Given the description of an element on the screen output the (x, y) to click on. 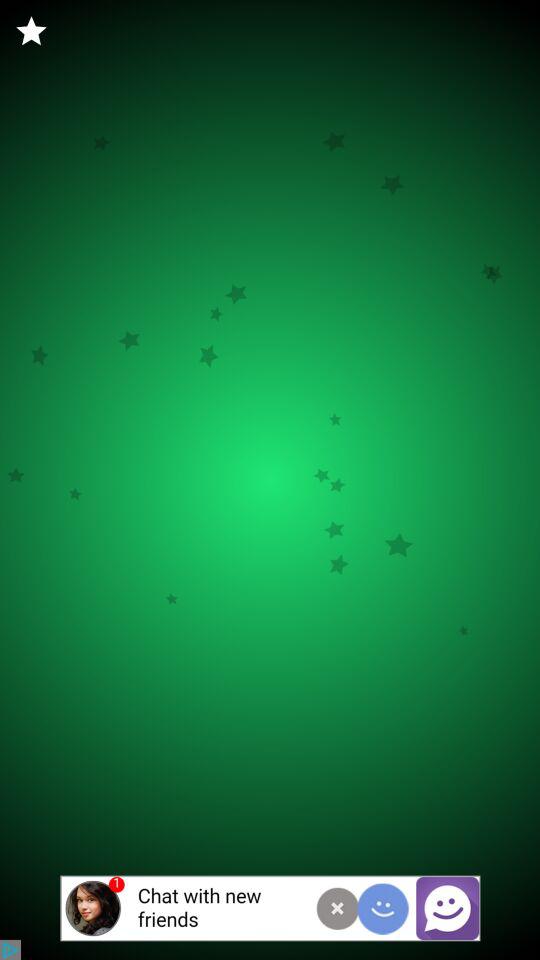
click the favorite option (31, 31)
